Given the description of an element on the screen output the (x, y) to click on. 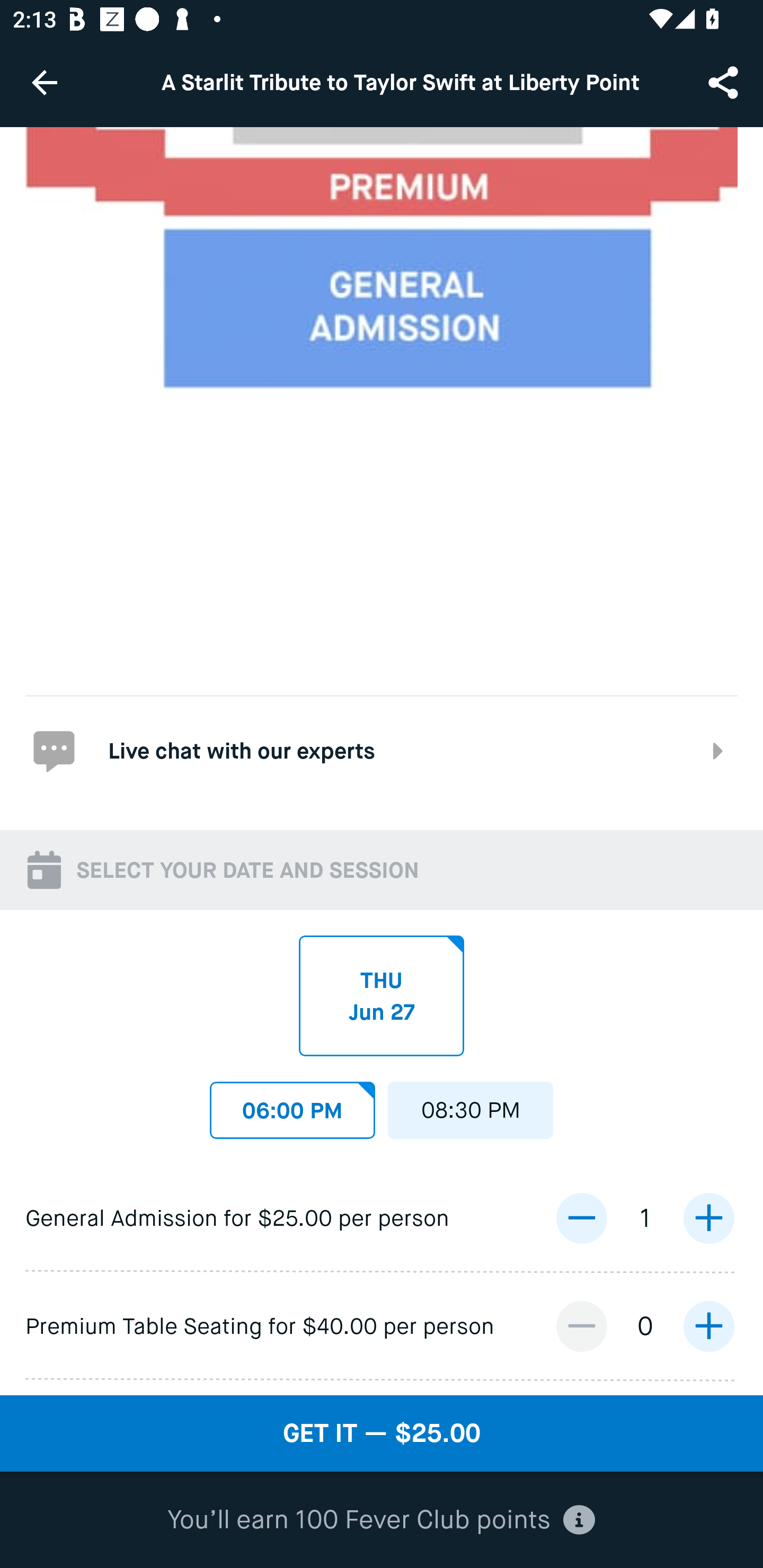
Navigate up (44, 82)
Share (724, 81)
Live chat with our experts (381, 749)
THU
Jun 27 (381, 996)
06:00 PM (292, 1105)
08:30 PM (470, 1105)
decrease (581, 1217)
increase (708, 1217)
decrease (581, 1326)
increase (708, 1326)
GET IT — $25.00 (381, 1433)
You’ll earn 100 Fever Club points (381, 1519)
